Given the description of an element on the screen output the (x, y) to click on. 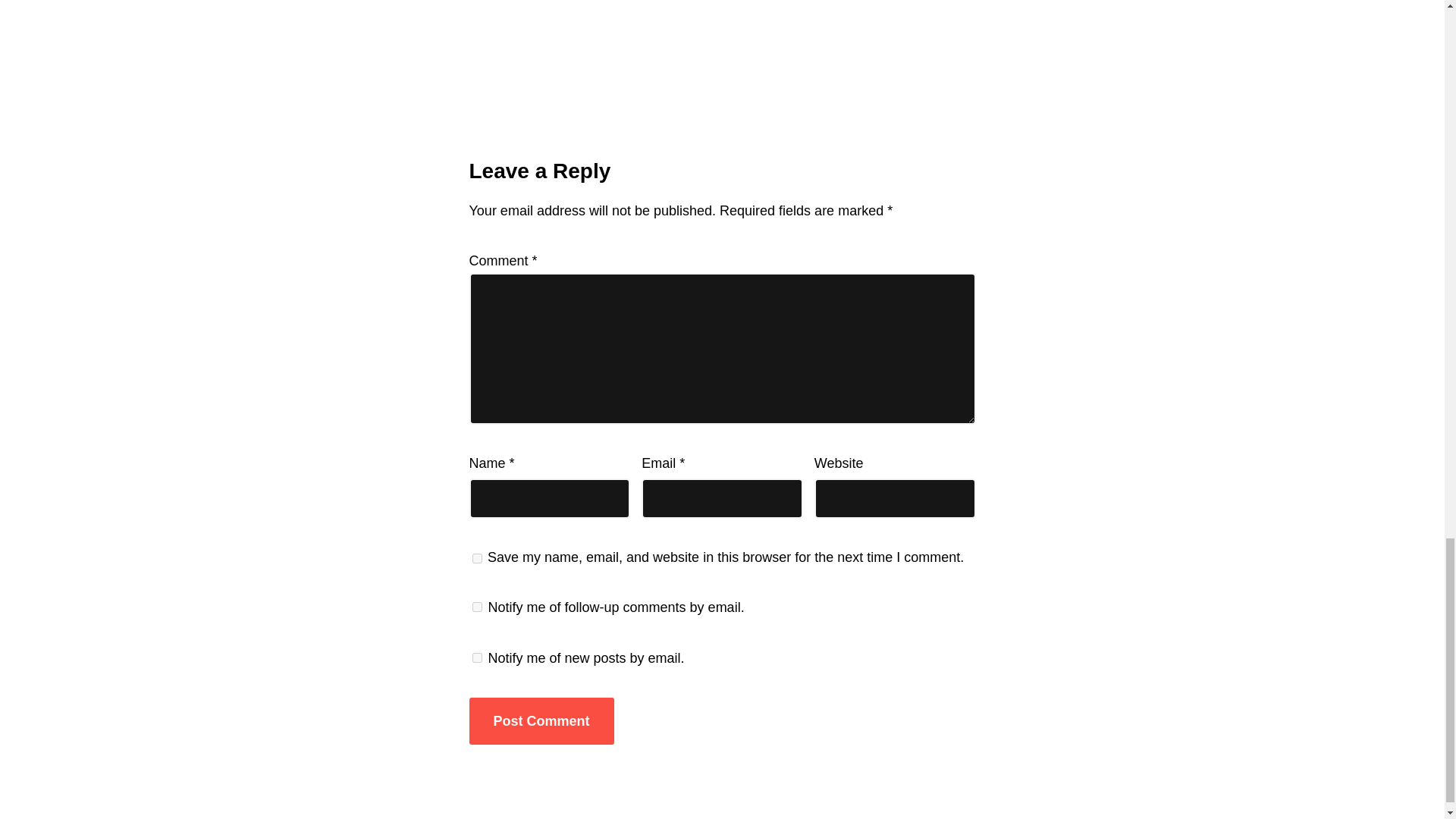
Post Comment (540, 721)
subscribe (476, 606)
subscribe (476, 657)
Post Comment (540, 721)
